Given the description of an element on the screen output the (x, y) to click on. 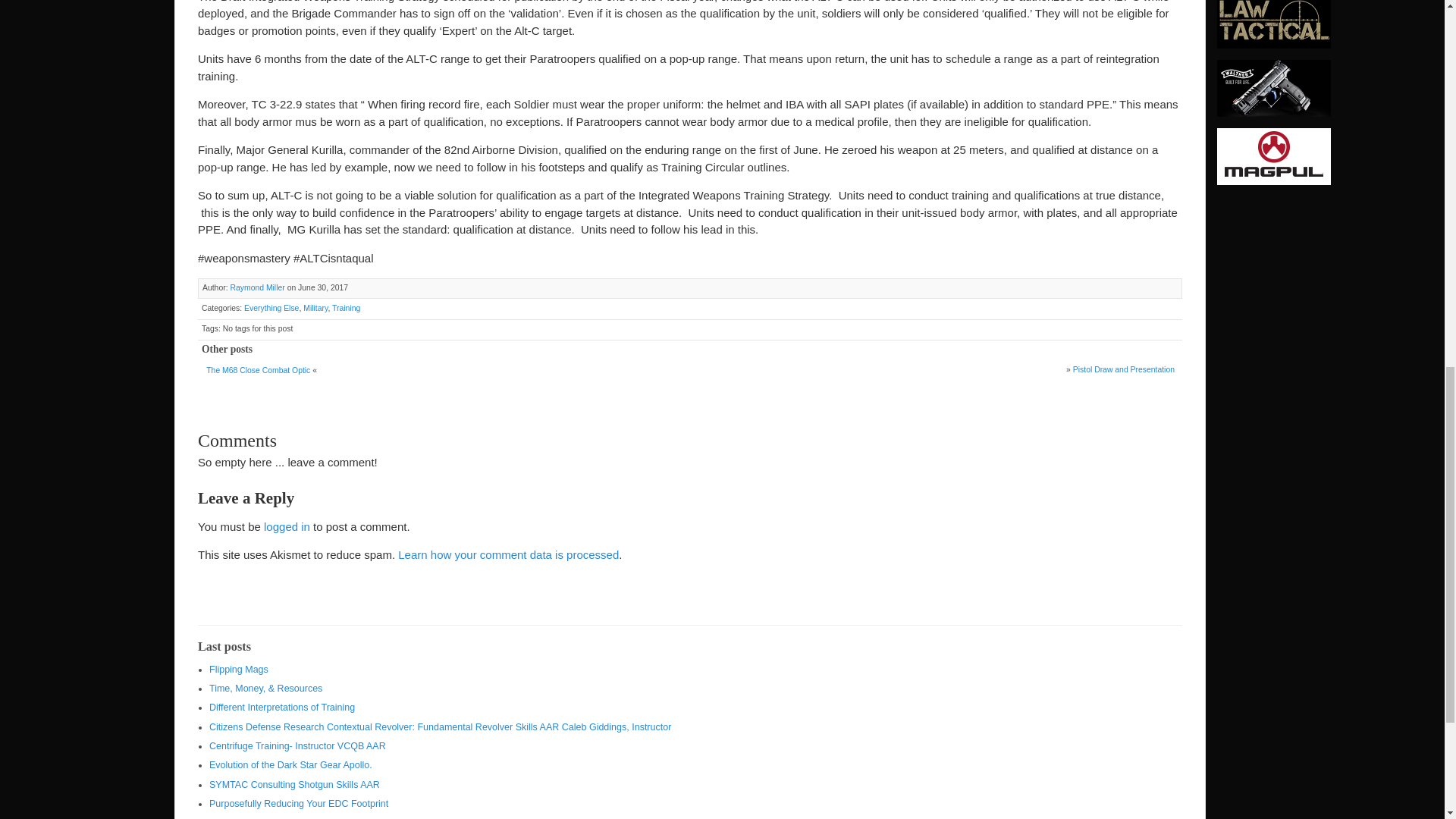
Learn how your comment data is processed (507, 554)
Flipping Mags (238, 669)
Purposefully Reducing Your EDC Footprint (298, 803)
The M68 Close Combat Optic (258, 370)
Military (314, 307)
Different Interpretations of Training (282, 706)
Pistol Draw and Presentation (1123, 369)
Centrifuge Training- Instructor VCQB AAR (297, 746)
Evolution of the Dark Star Gear Apollo.  (291, 765)
Training (345, 307)
Posts by Raymond Miller (256, 287)
Raymond Miller (256, 287)
Everything Else (271, 307)
